Given the description of an element on the screen output the (x, y) to click on. 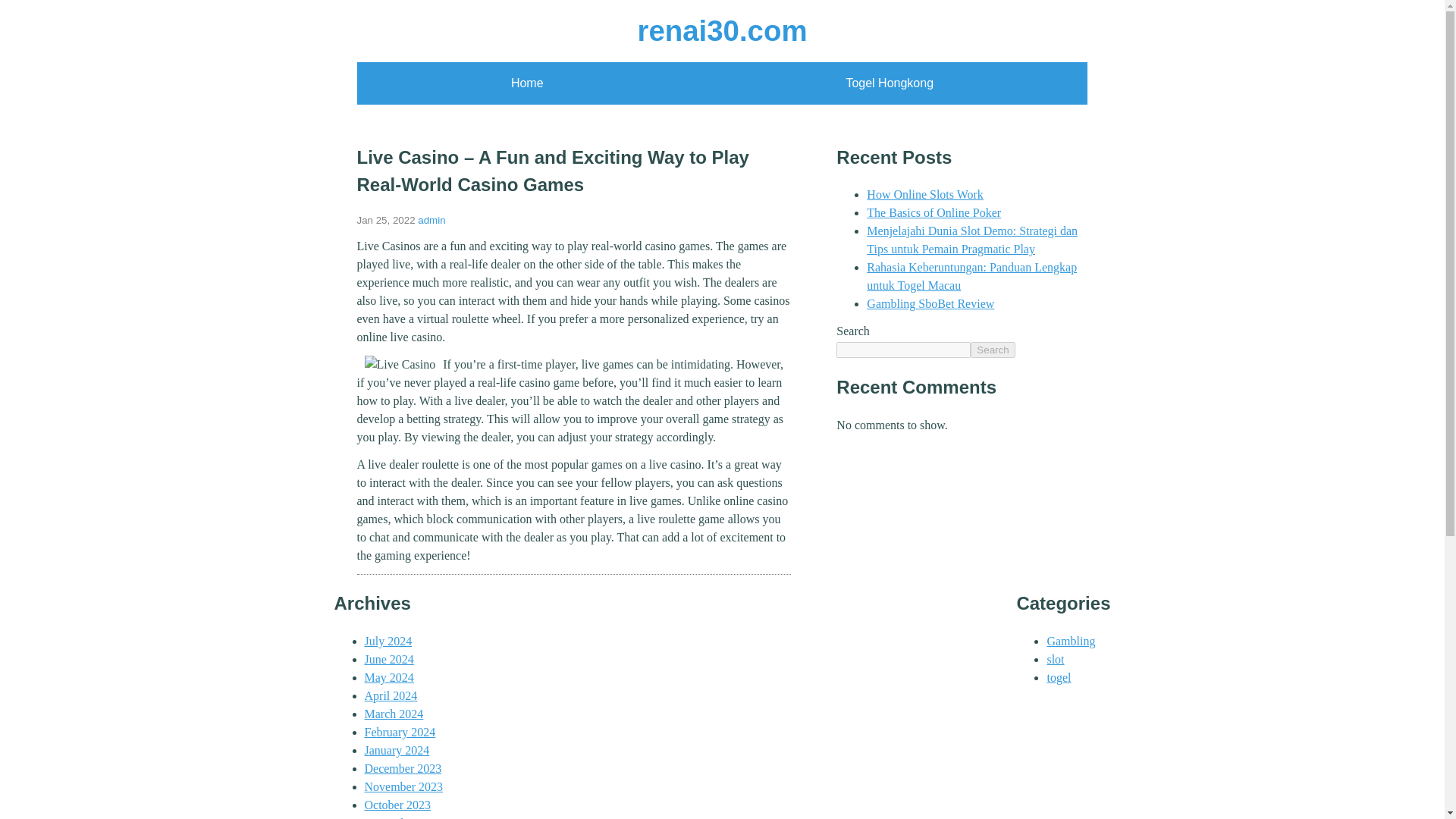
April 2024 (390, 695)
Search (992, 349)
March 2024 (393, 713)
September 2023 (403, 817)
How Online Slots Work (925, 194)
December 2023 (402, 768)
June 2024 (388, 658)
admin (431, 220)
The Basics of Online Poker (933, 212)
Home (527, 82)
Gambling SboBet Review (930, 303)
November 2023 (403, 786)
February 2024 (399, 731)
Rahasia Keberuntungan: Panduan Lengkap untuk Togel Macau (971, 276)
July 2024 (388, 640)
